Given the description of an element on the screen output the (x, y) to click on. 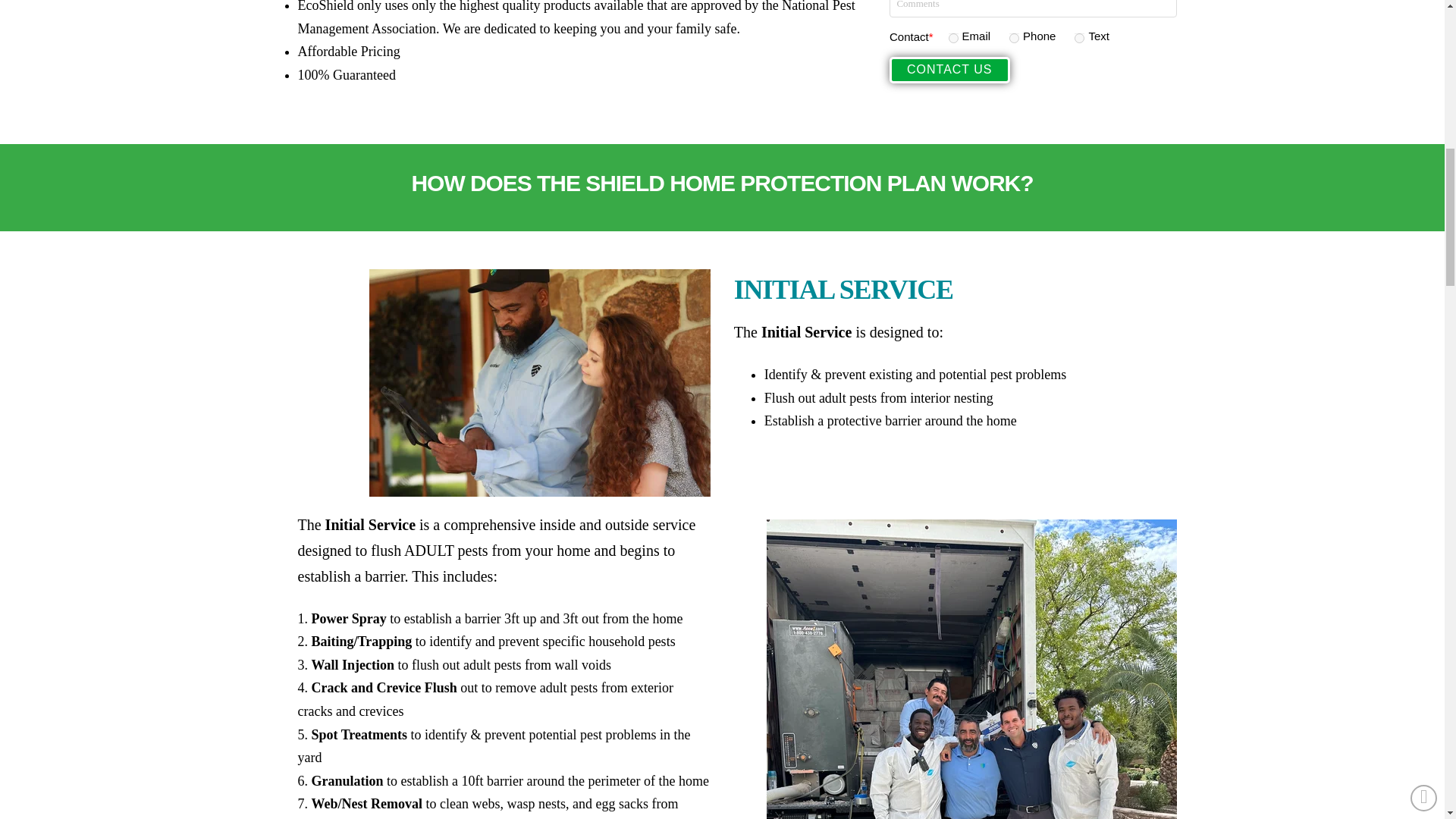
Email (953, 38)
CONTACT US (949, 69)
Phone (1014, 38)
Text (1079, 38)
new home image (539, 382)
